Given the description of an element on the screen output the (x, y) to click on. 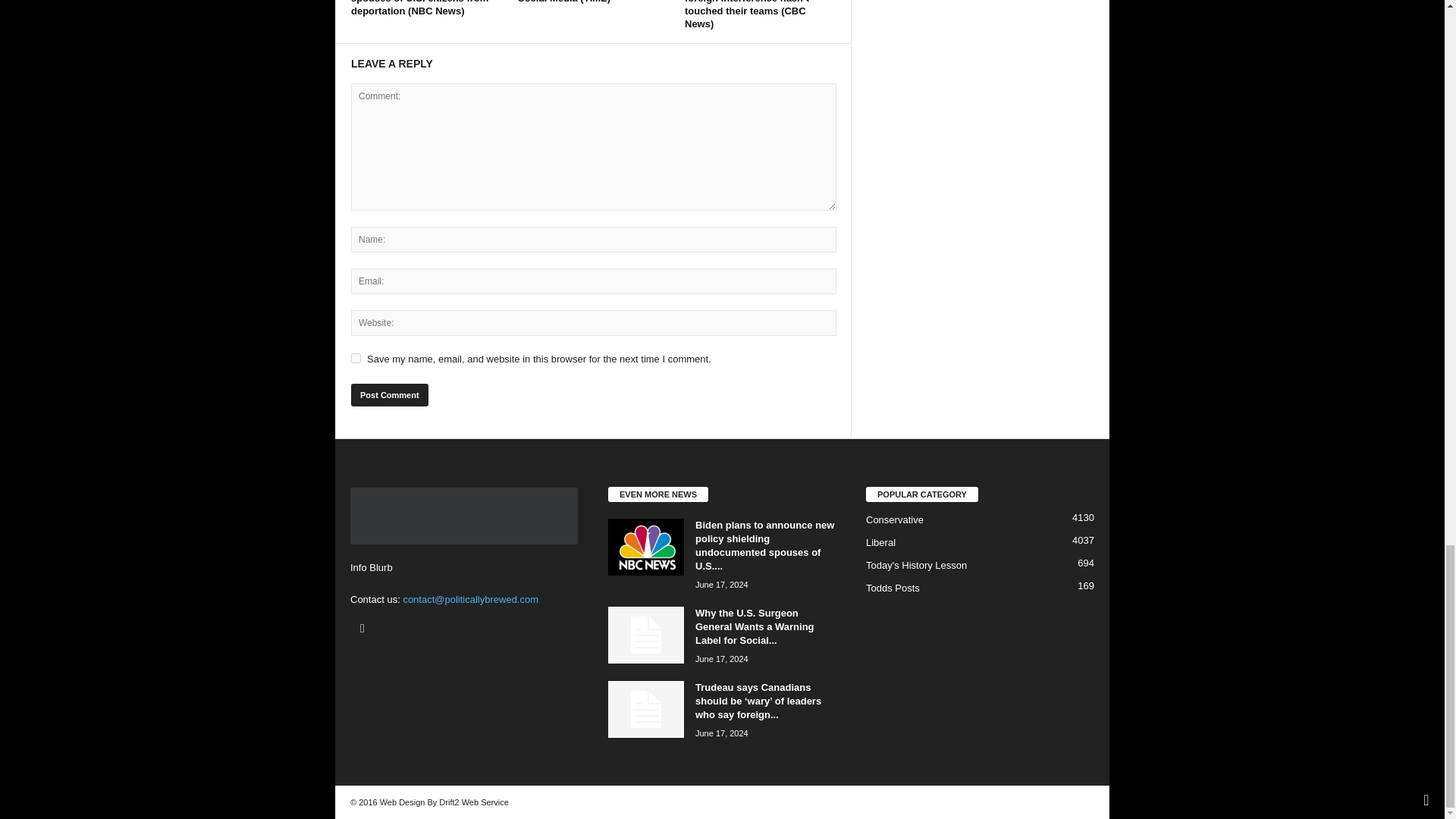
yes (355, 357)
Post Comment (389, 395)
